Given the description of an element on the screen output the (x, y) to click on. 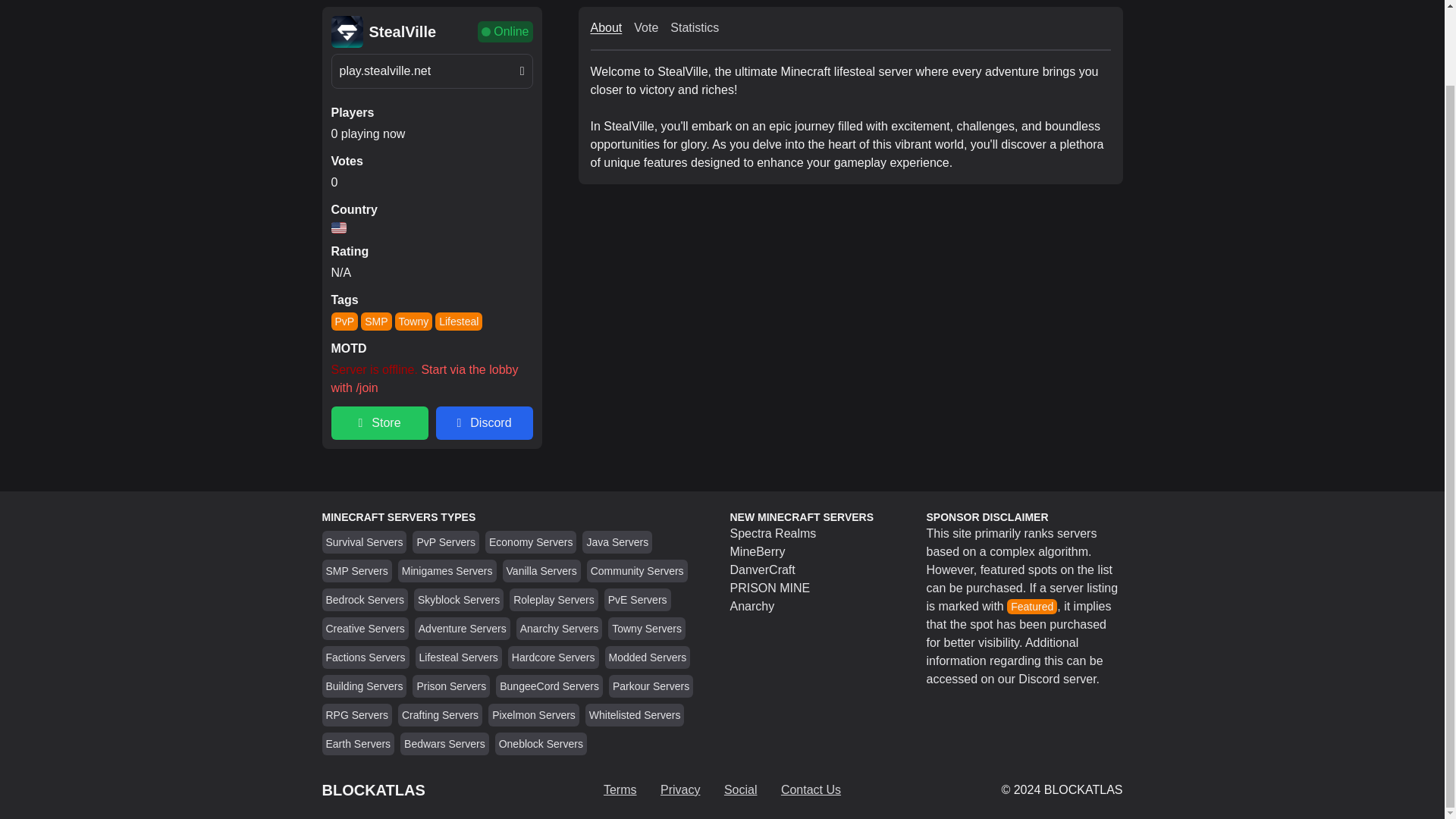
PvP (344, 321)
play.stealville.net (431, 71)
SMP Servers (357, 571)
StealVille (401, 31)
Adventure Servers (462, 628)
Java Servers (616, 541)
Factions Servers (366, 657)
PvP Servers (446, 541)
Survival Servers (364, 541)
Statistics (694, 27)
Community Servers (637, 571)
Skyblock Servers (458, 599)
Bedrock Servers (365, 599)
Anarchy Servers (558, 628)
Roleplay Servers (553, 599)
